Given the description of an element on the screen output the (x, y) to click on. 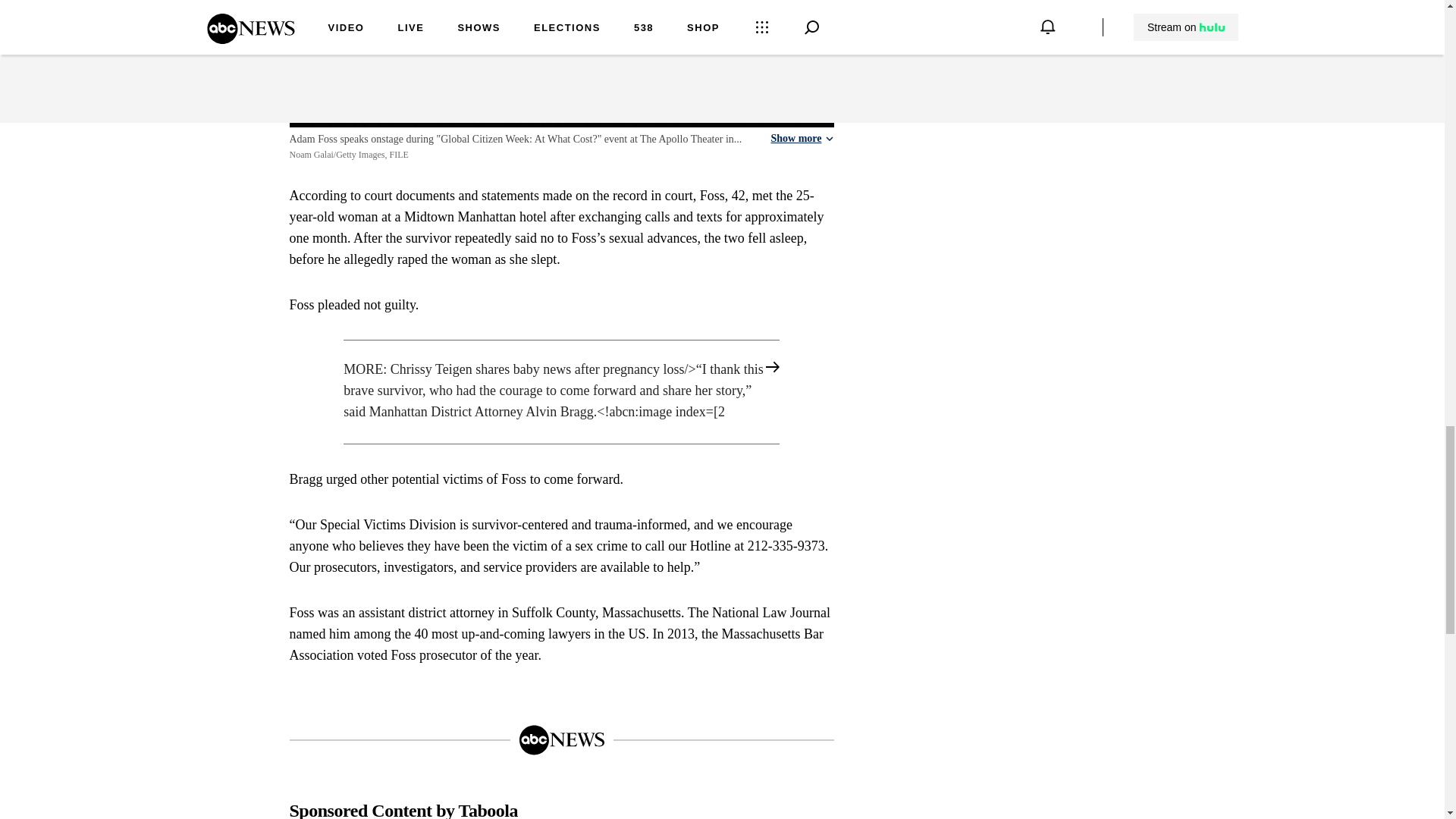
Sponsored Content by Taboola (403, 812)
Show more (801, 138)
